Given the description of an element on the screen output the (x, y) to click on. 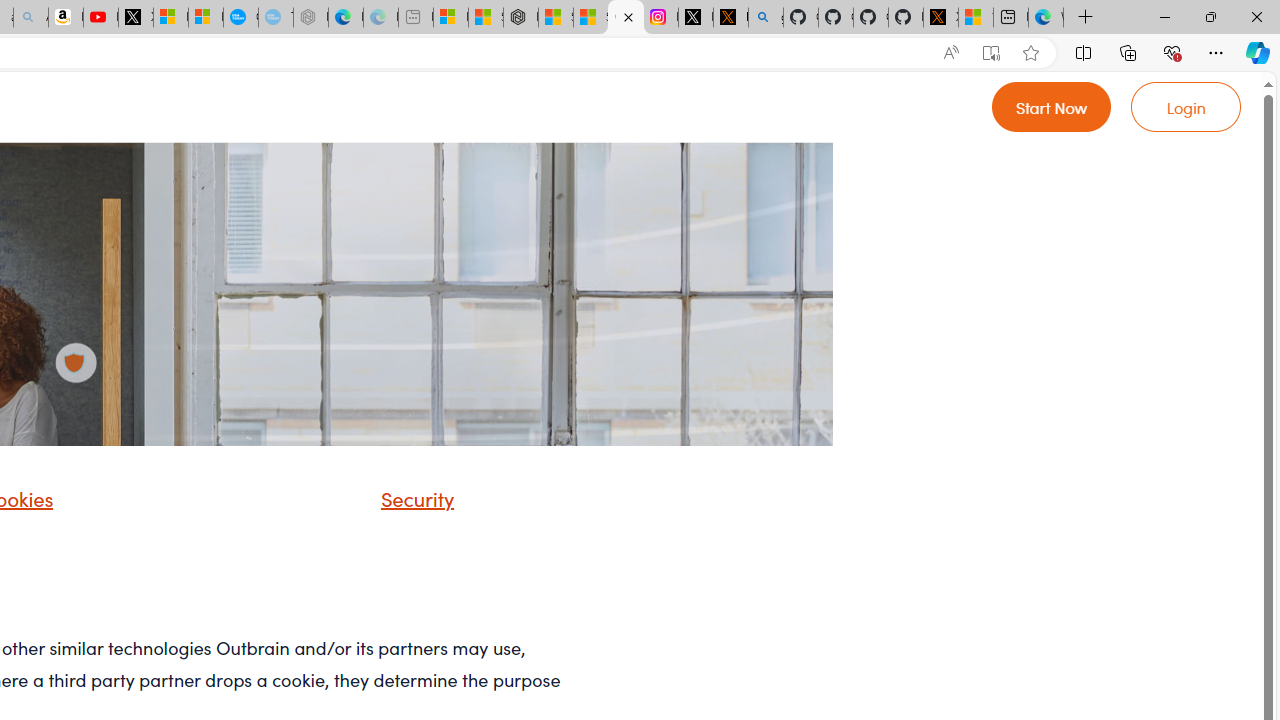
Shanghai, China Weather trends | Microsoft Weather (590, 17)
help.x.com | 524: A timeout occurred (730, 17)
X Privacy Policy (940, 17)
Go to login (1186, 106)
Microsoft account | Microsoft Account Privacy Settings (450, 17)
